Given the description of an element on the screen output the (x, y) to click on. 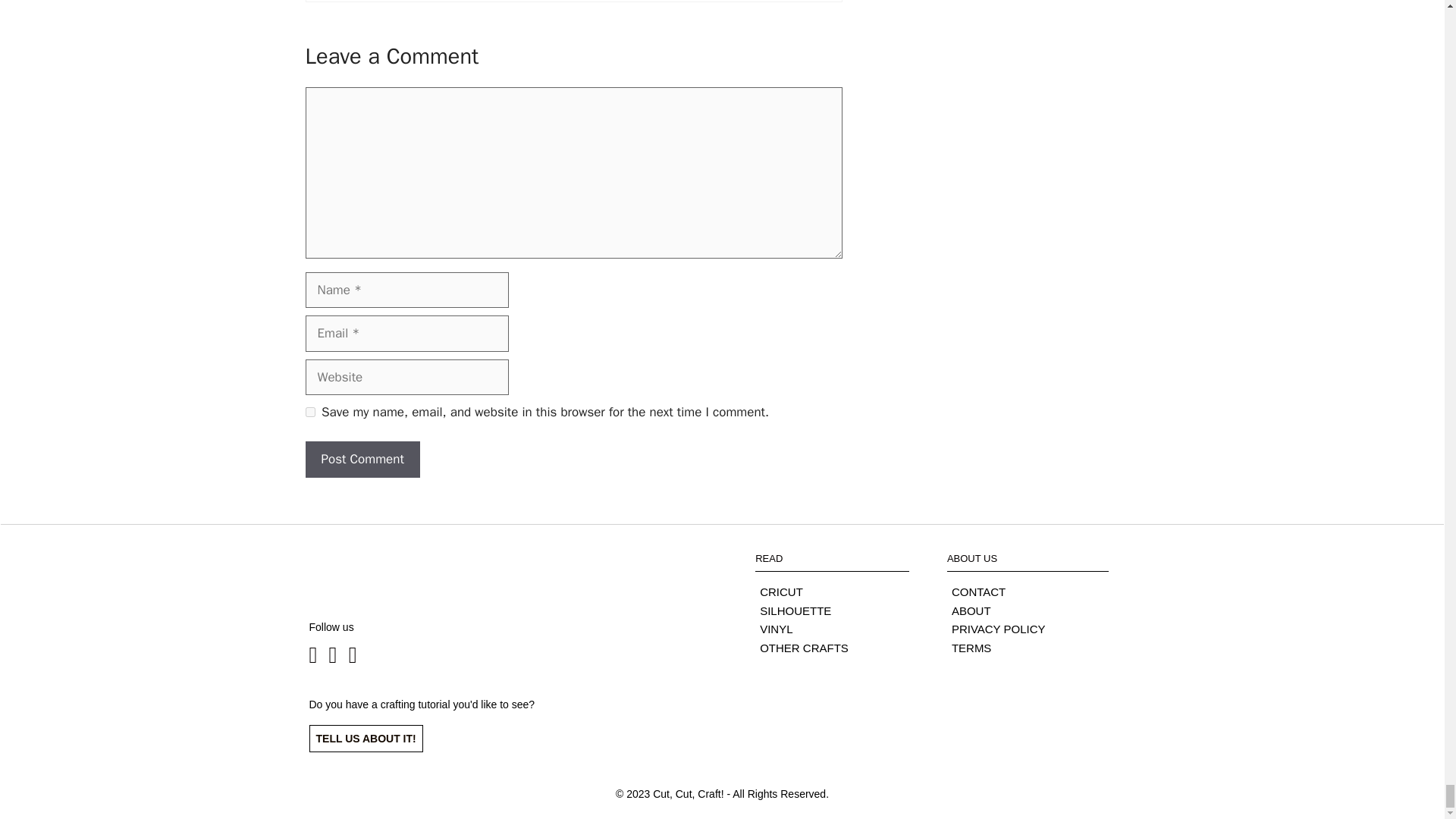
Post Comment (361, 459)
yes (309, 411)
